Given the description of an element on the screen output the (x, y) to click on. 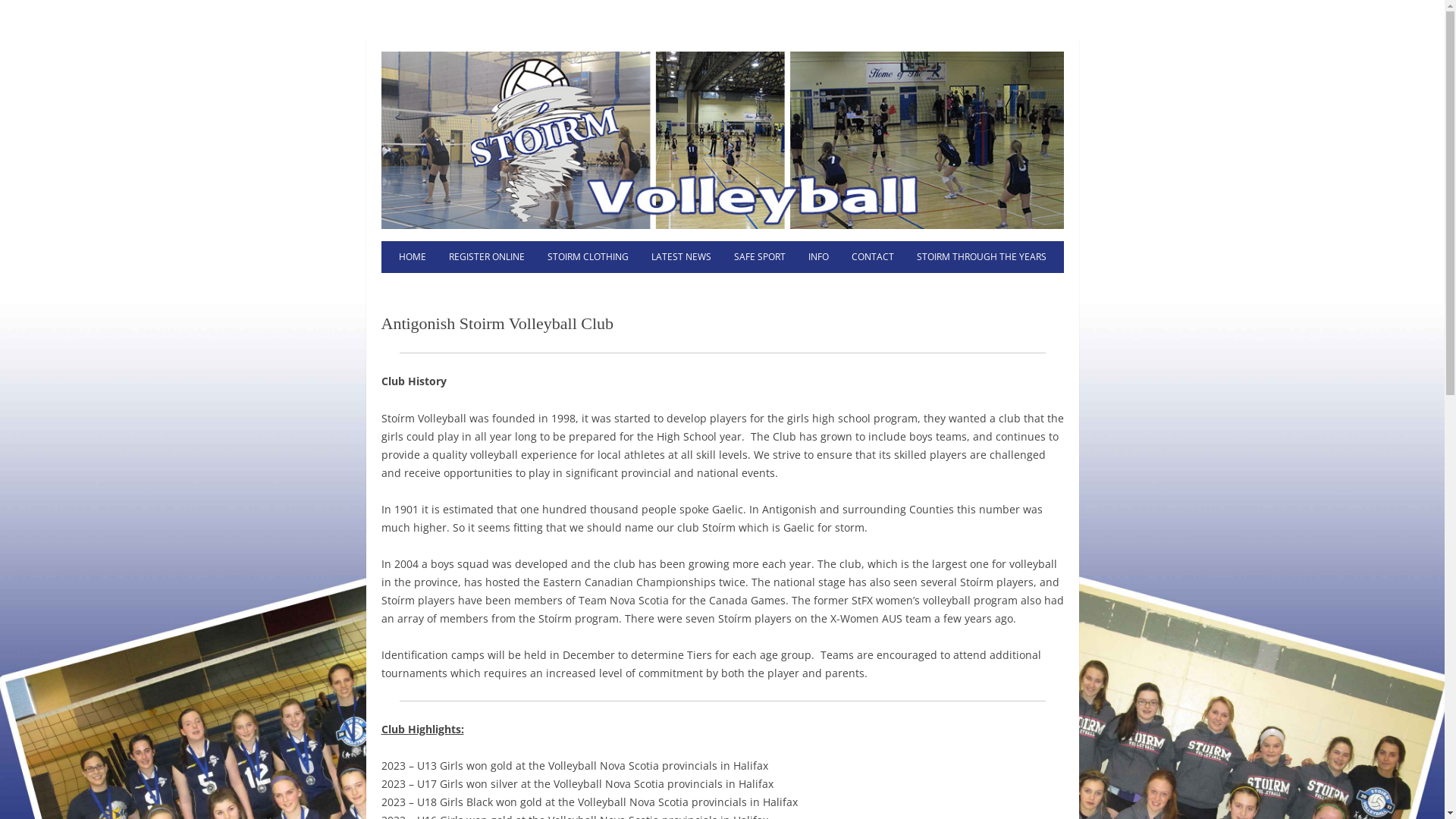
STOIRM THROUGH THE YEARS Element type: text (981, 257)
HOME Element type: text (411, 257)
CONTACT Element type: text (872, 257)
LATEST NEWS Element type: text (681, 257)
Skip to content Element type: text (762, 246)
STOIRM CLOTHING Element type: text (587, 257)
SAFE SPORT Element type: text (758, 257)
REGISTER ONLINE Element type: text (485, 257)
INFO Element type: text (817, 257)
